Given the description of an element on the screen output the (x, y) to click on. 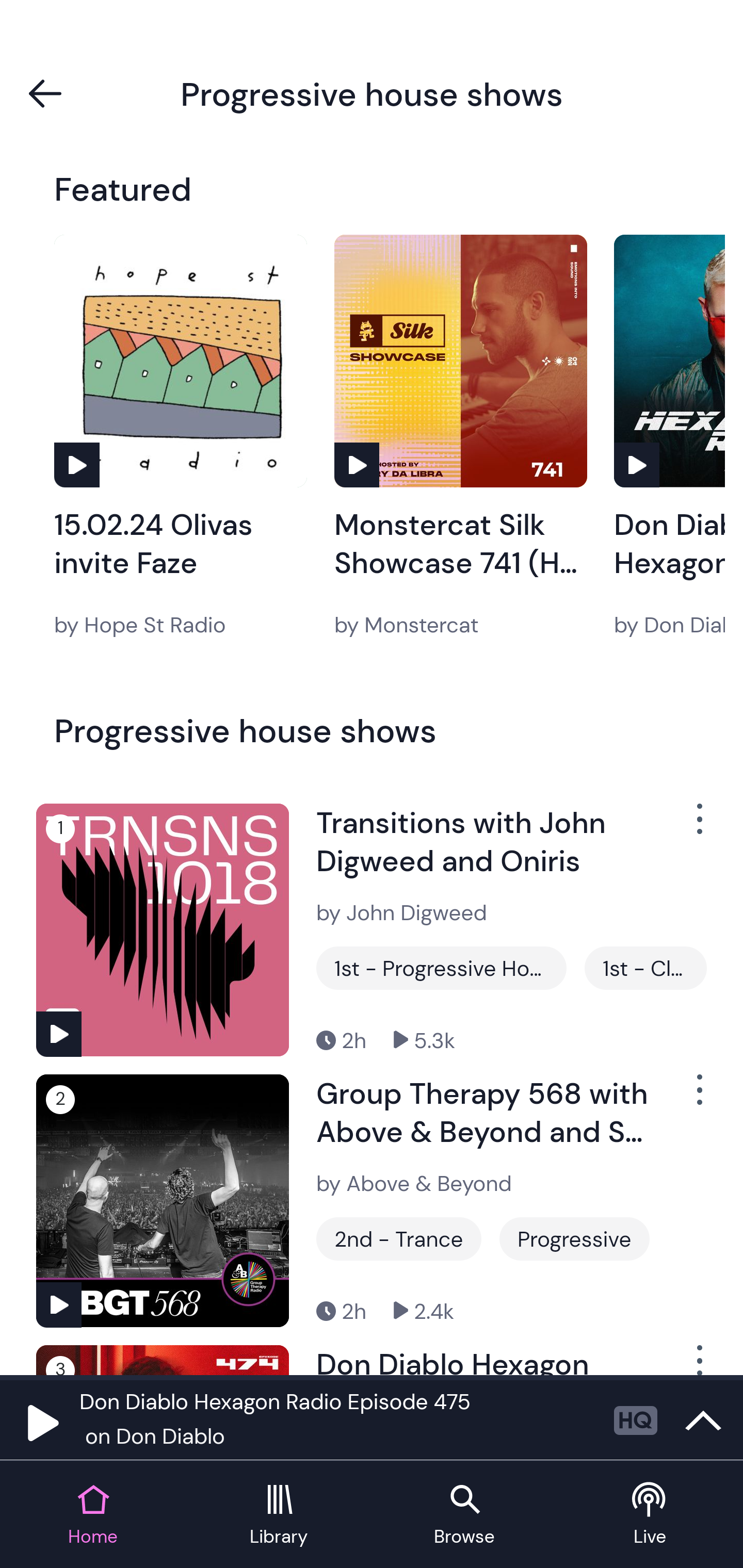
Show Options Menu Button (697, 825)
1st - Progressive House (441, 968)
1st - Club (645, 968)
Show Options Menu Button (697, 1097)
2nd - Trance (398, 1238)
Progressive (574, 1238)
Show Options Menu Button (697, 1360)
Home tab Home (92, 1515)
Library tab Library (278, 1515)
Browse tab Browse (464, 1515)
Live tab Live (650, 1515)
